Given the description of an element on the screen output the (x, y) to click on. 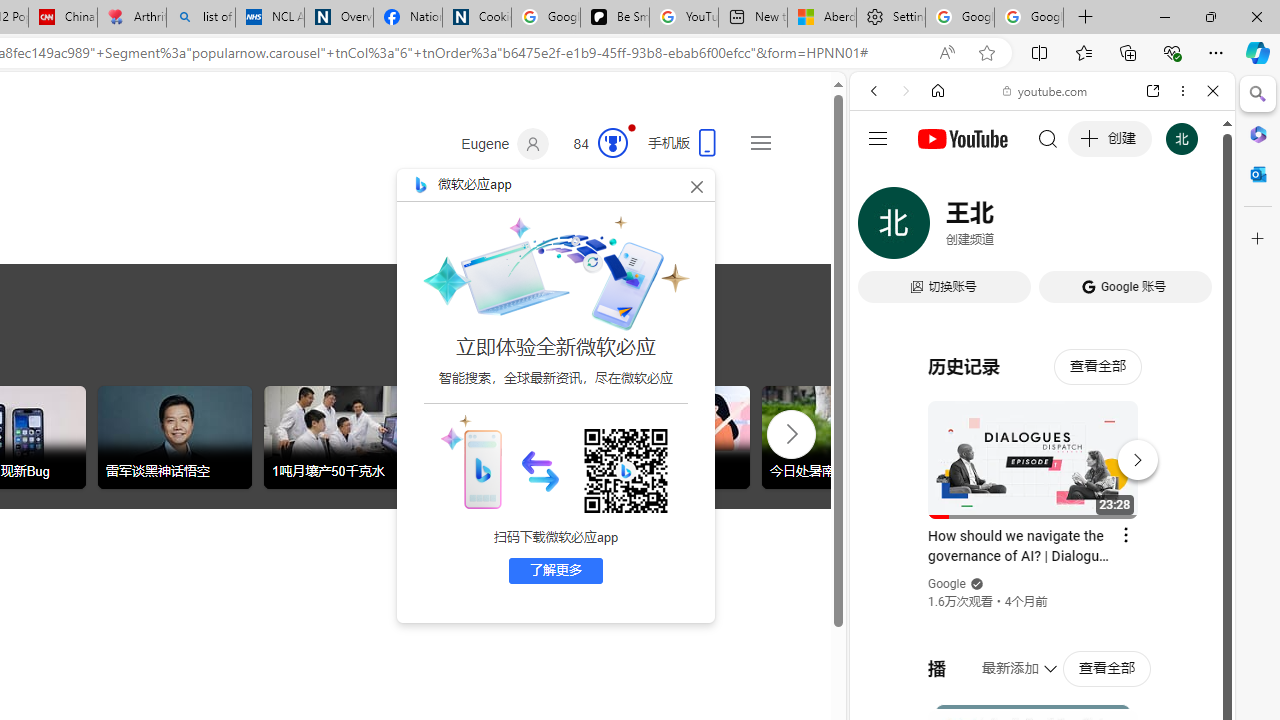
Google (1042, 494)
Class: b_serphb (1190, 229)
Settings and more (Alt+F) (1215, 52)
AutomationID: serp_medal_svg (612, 142)
AutomationID: rh_meter (612, 142)
Close Outlook pane (1258, 174)
Search videos from youtube.com (1005, 657)
Read aloud this page (Ctrl+Shift+U) (946, 53)
#you (1042, 445)
NCL Adult Asthma Inhaler Choice Guideline (269, 17)
Back (874, 91)
Aberdeen, Hong Kong SAR hourly forecast | Microsoft Weather (822, 17)
